Given the description of an element on the screen output the (x, y) to click on. 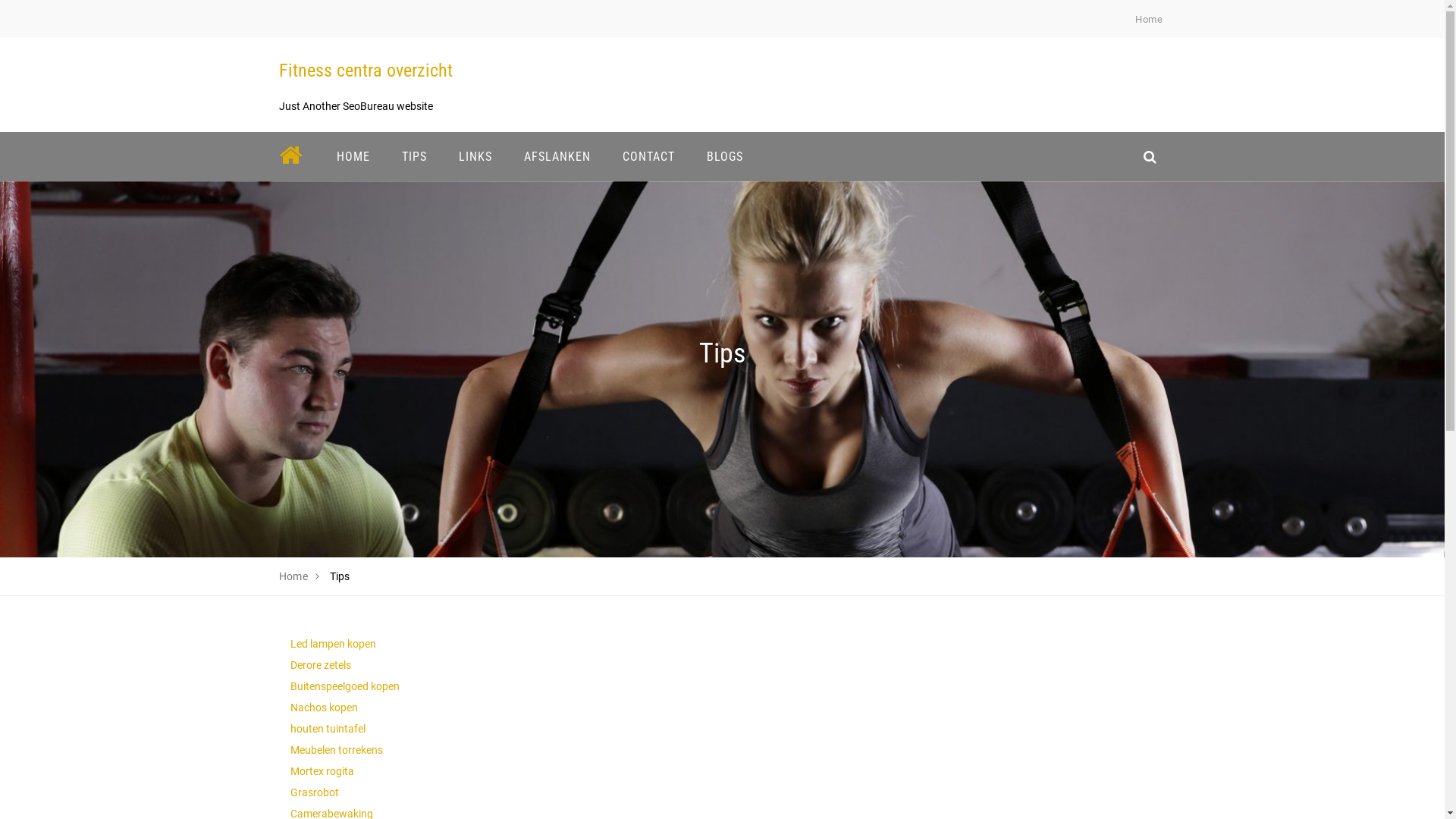
CONTACT Element type: text (648, 156)
HOME Element type: text (352, 156)
BLOGS Element type: text (724, 156)
Derore zetels Element type: text (319, 664)
Mortex rogita Element type: text (321, 771)
houten tuintafel Element type: text (326, 728)
Home Element type: text (1148, 19)
Buitenspeelgoed kopen Element type: text (343, 686)
Meubelen torrekens Element type: text (335, 749)
search_icon Element type: hover (1148, 156)
Nachos kopen Element type: text (323, 707)
Home Element type: text (293, 576)
LINKS Element type: text (475, 156)
Led lampen kopen Element type: text (332, 643)
Fitness centra overzicht Element type: text (365, 70)
TIPS Element type: text (413, 156)
Grasrobot Element type: text (313, 792)
AFSLANKEN Element type: text (557, 156)
